Given the description of an element on the screen output the (x, y) to click on. 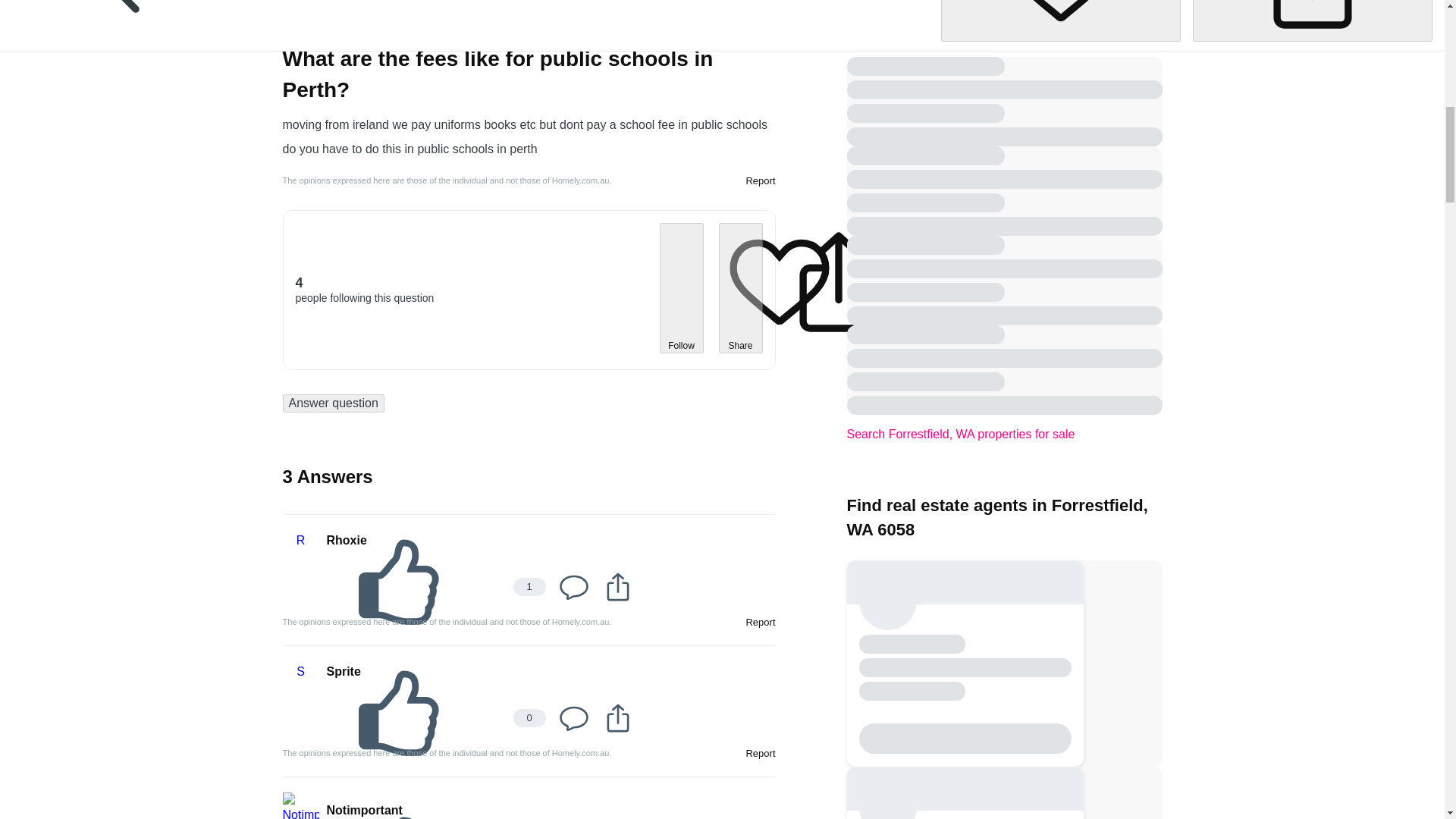
Answer question (333, 402)
Share this question (1312, 20)
Sprite (342, 671)
Rhoxie (346, 540)
Follow this question (1060, 20)
Back (118, 20)
sharoz (345, 23)
